Given the description of an element on the screen output the (x, y) to click on. 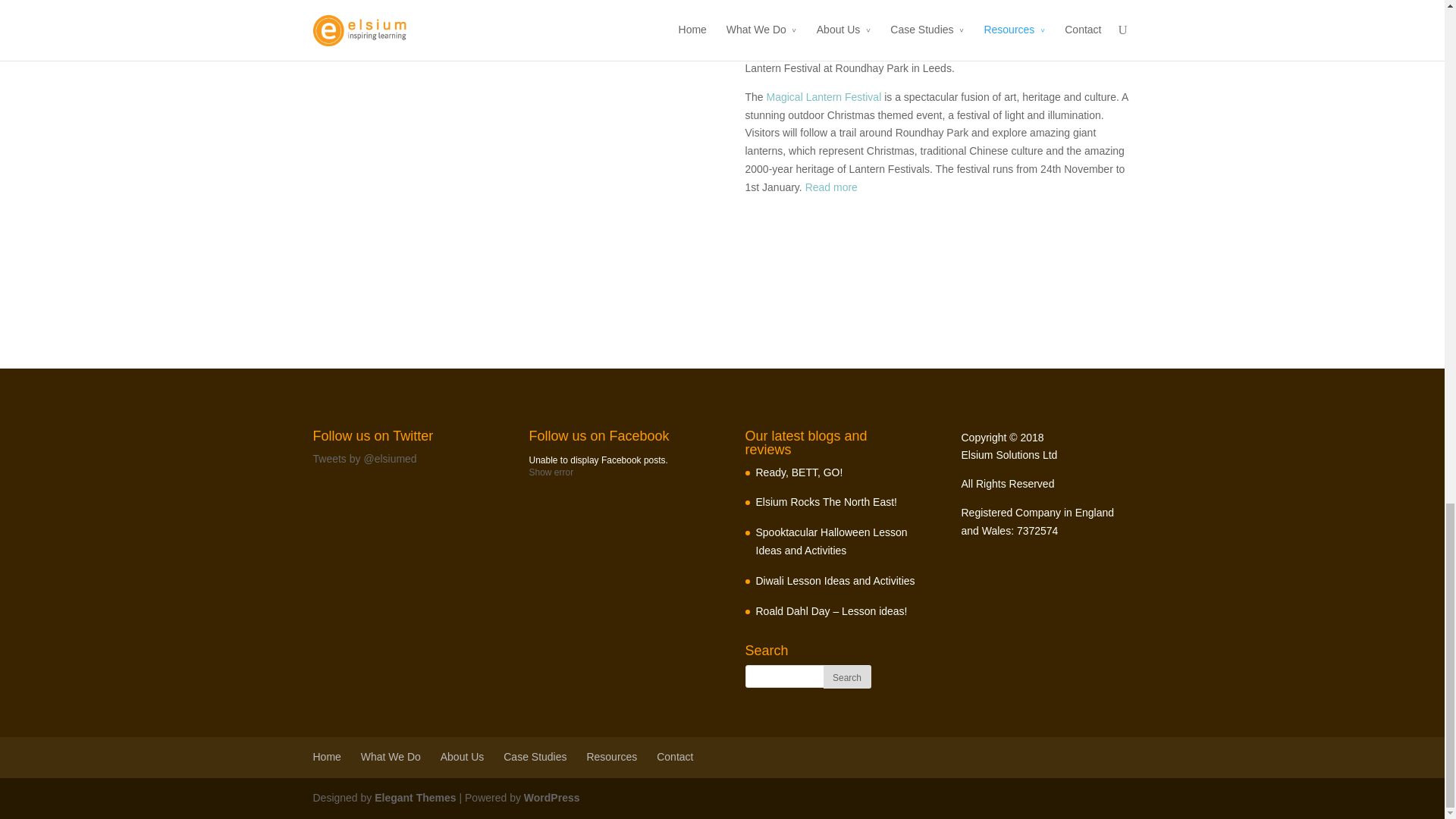
Premium WordPress Themes (414, 797)
Search (847, 676)
